Given the description of an element on the screen output the (x, y) to click on. 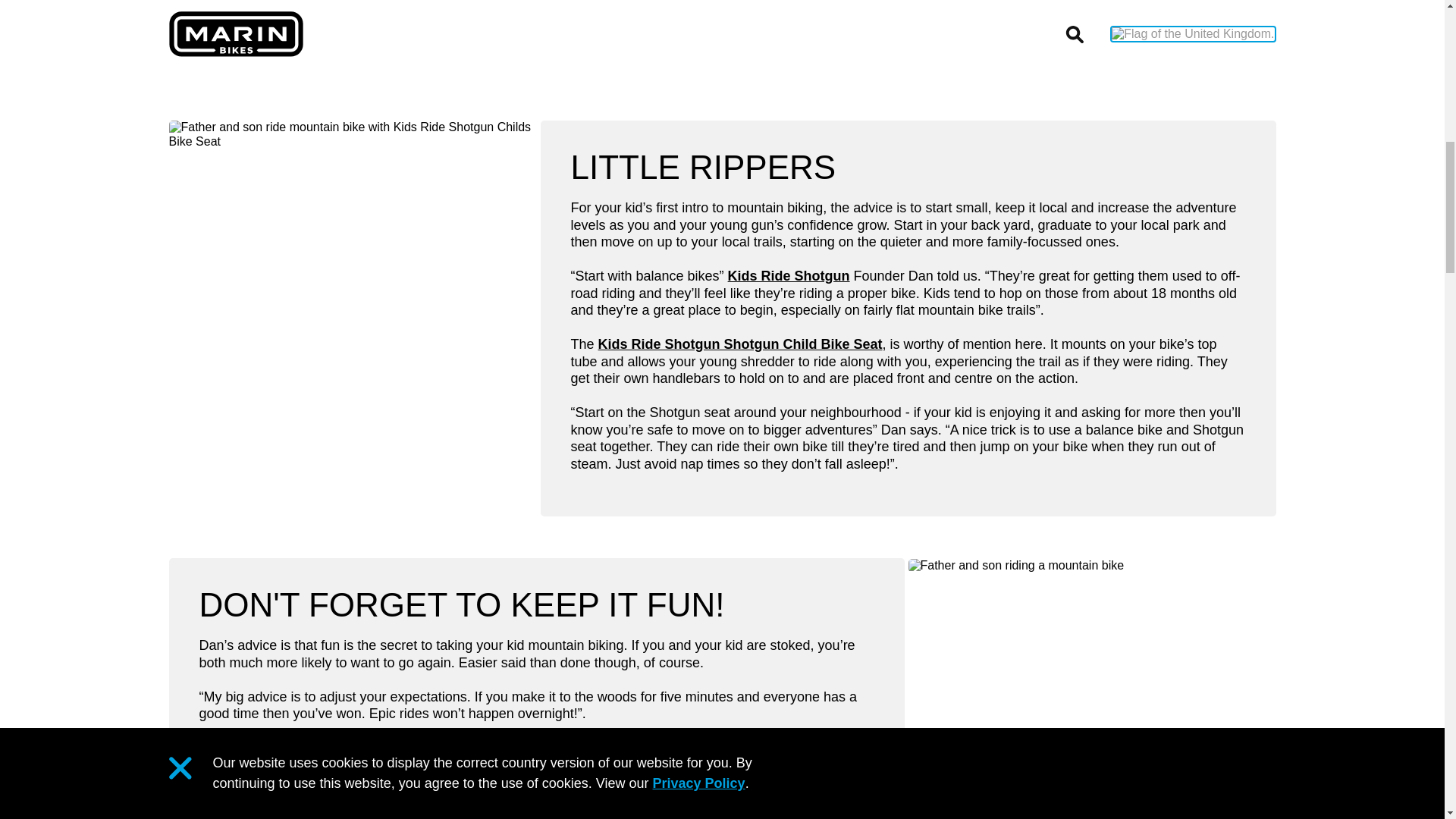
YouTube video player (722, 39)
Kids Ride Shotgun (789, 275)
Kids Ride Shotgun Shotgun Child Bike Seat (740, 344)
